Given the description of an element on the screen output the (x, y) to click on. 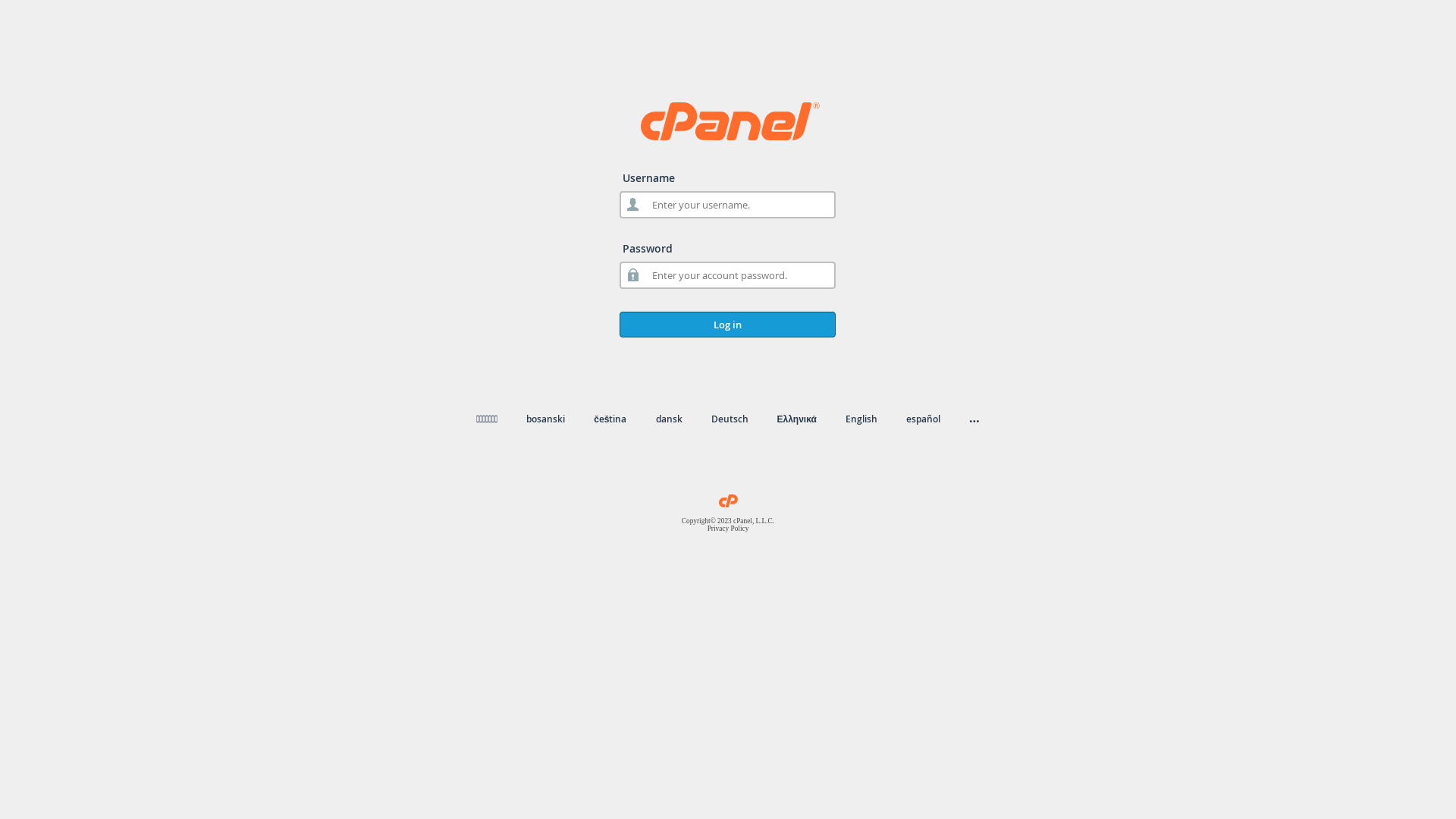
Enter Here Element type: text (896, 224)
Enter Here Element type: text (558, 224)
